Given the description of an element on the screen output the (x, y) to click on. 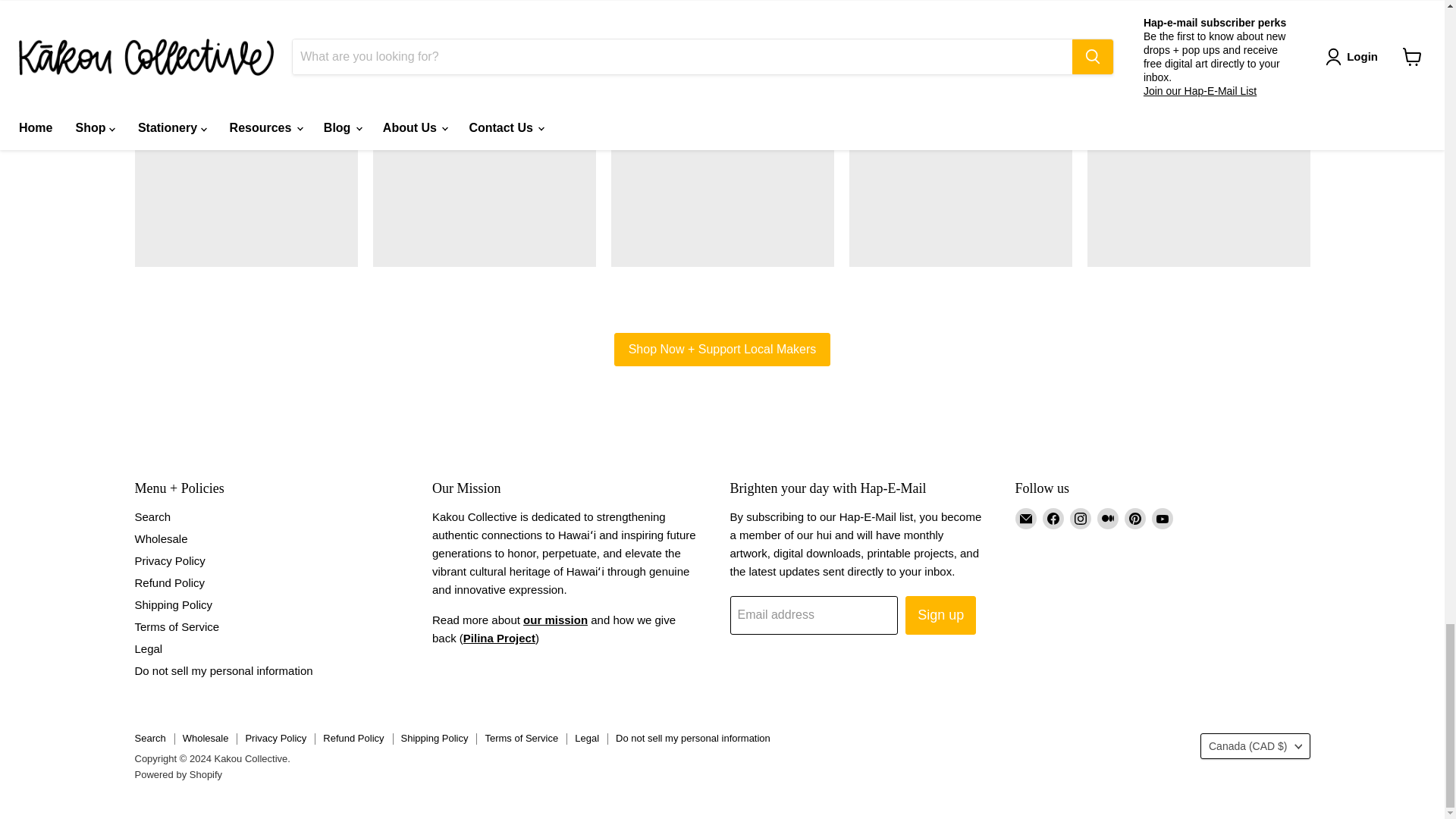
Email (1024, 518)
Medium (1107, 518)
Instagram (1079, 518)
Pinterest (1134, 518)
Facebook (1052, 518)
YouTube (1161, 518)
